Given the description of an element on the screen output the (x, y) to click on. 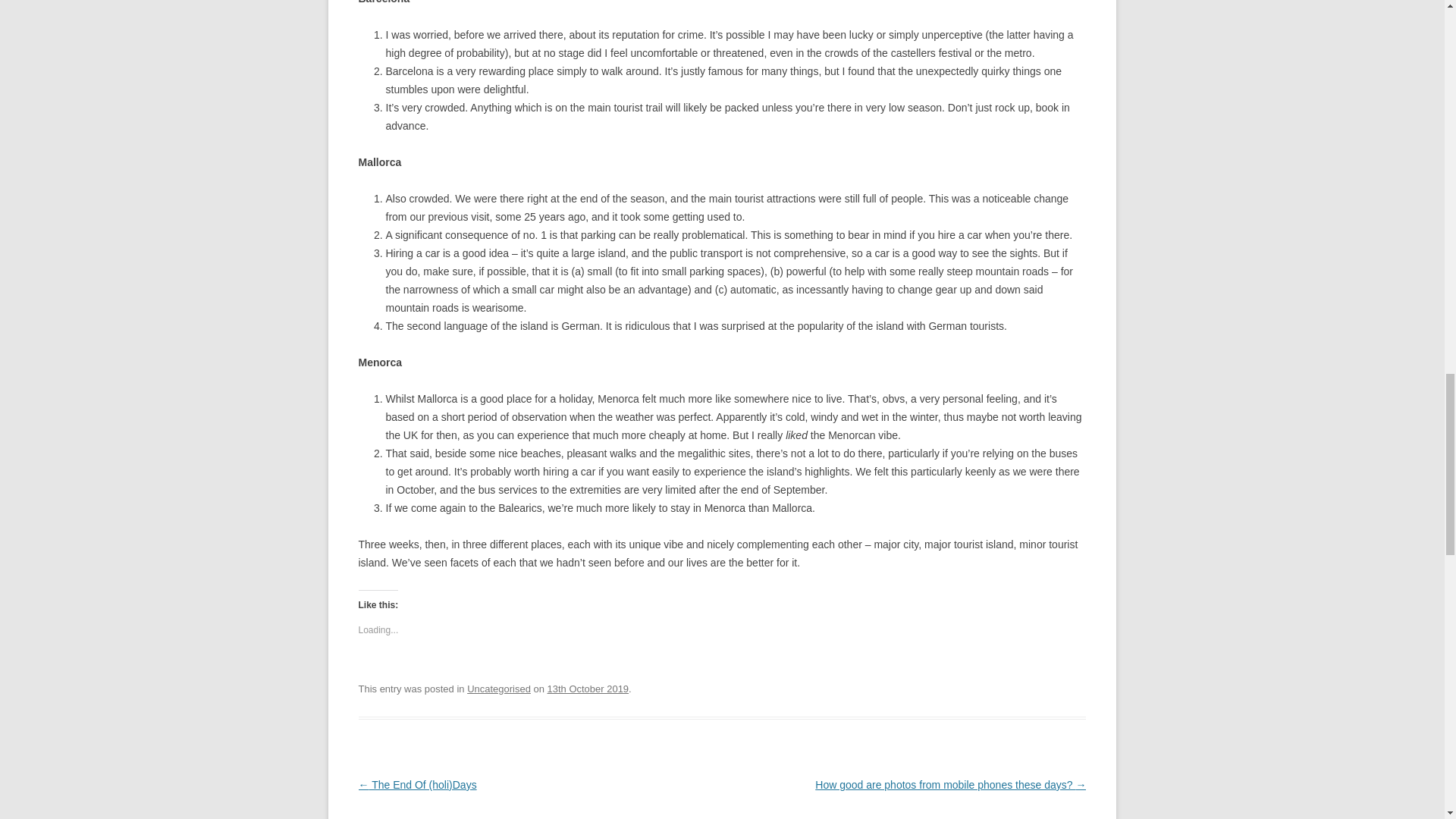
17:37 (587, 688)
Uncategorised (499, 688)
13th October 2019 (587, 688)
